Given the description of an element on the screen output the (x, y) to click on. 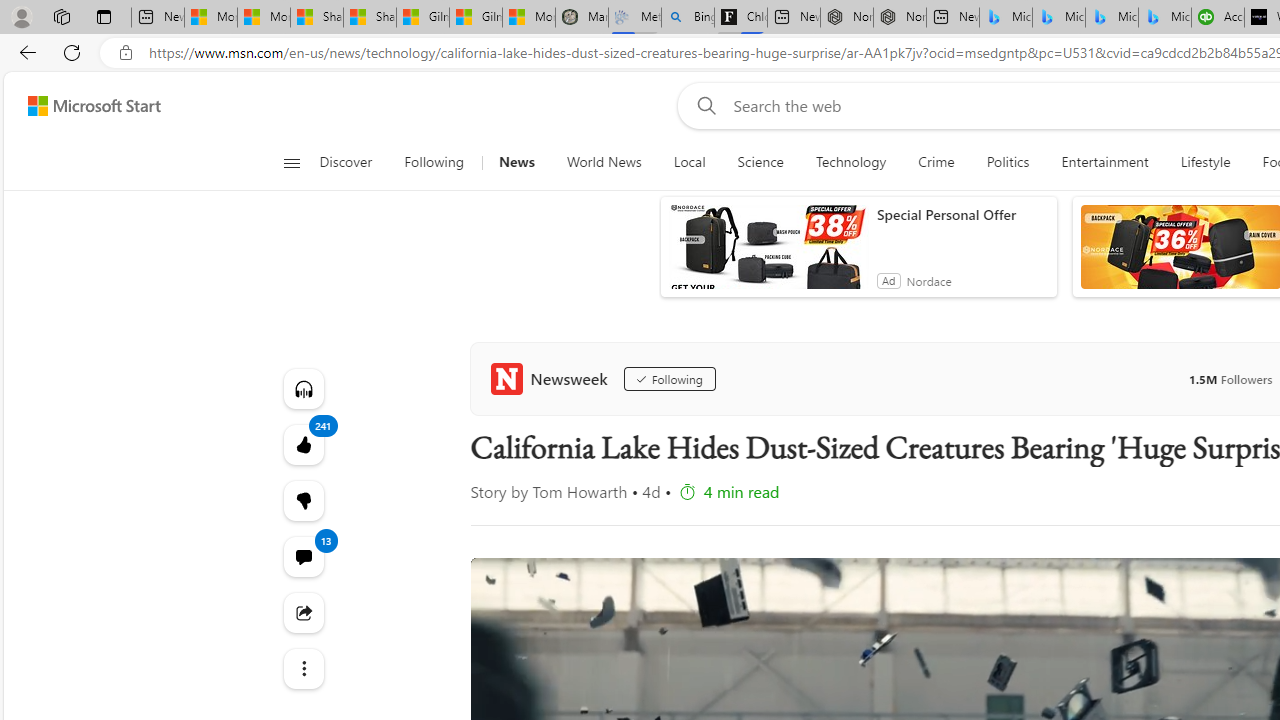
Manatee Mortality Statistics | FWC (581, 17)
Local (689, 162)
Shanghai, China weather forecast | Microsoft Weather (369, 17)
Crime (935, 162)
Class: button-glyph (290, 162)
Technology (850, 162)
Bing Real Estate - Home sales and rental listings (687, 17)
Share this story (302, 612)
Dislike (302, 500)
